Given the description of an element on the screen output the (x, y) to click on. 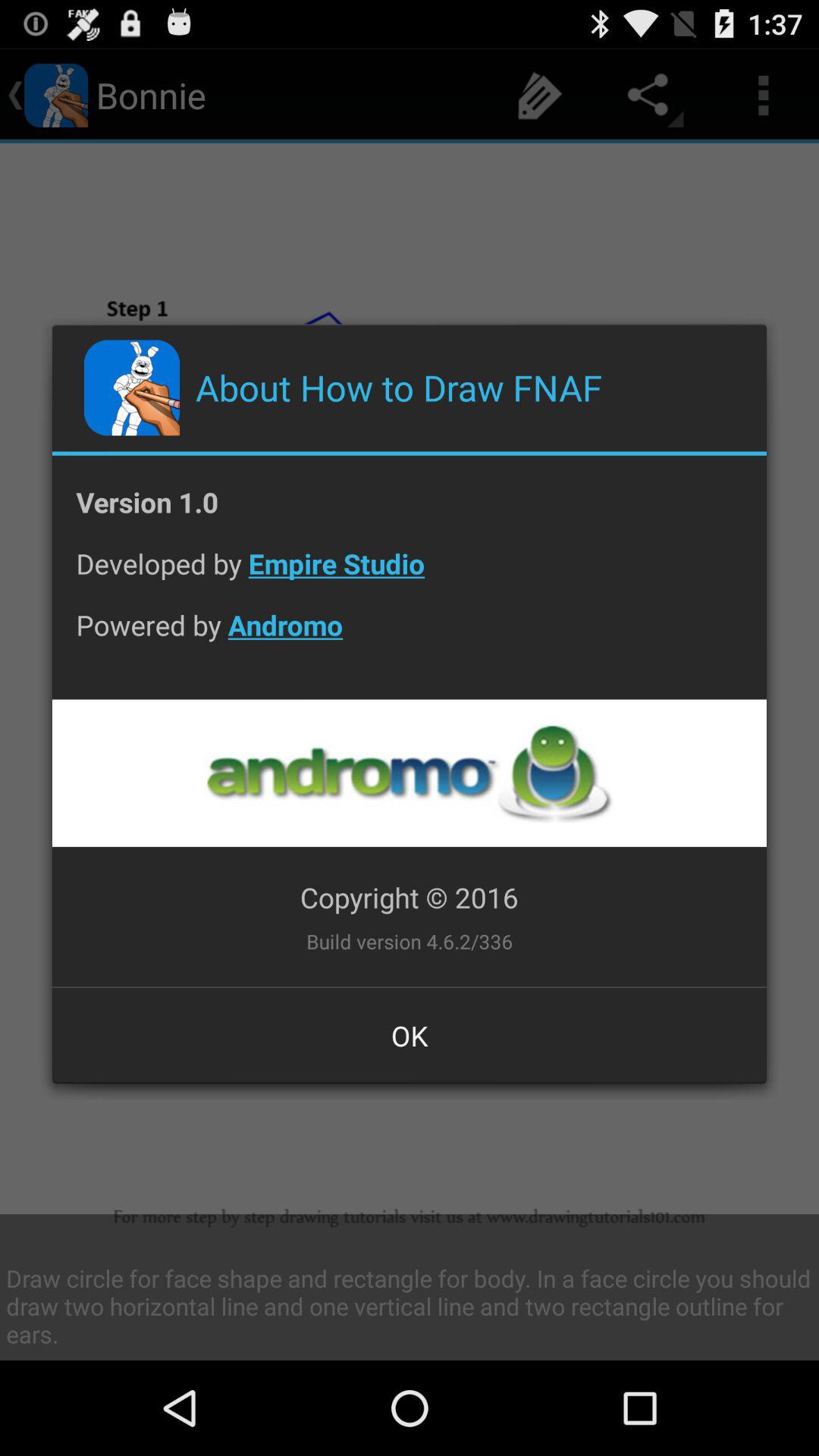
scroll until the ok icon (409, 1035)
